Given the description of an element on the screen output the (x, y) to click on. 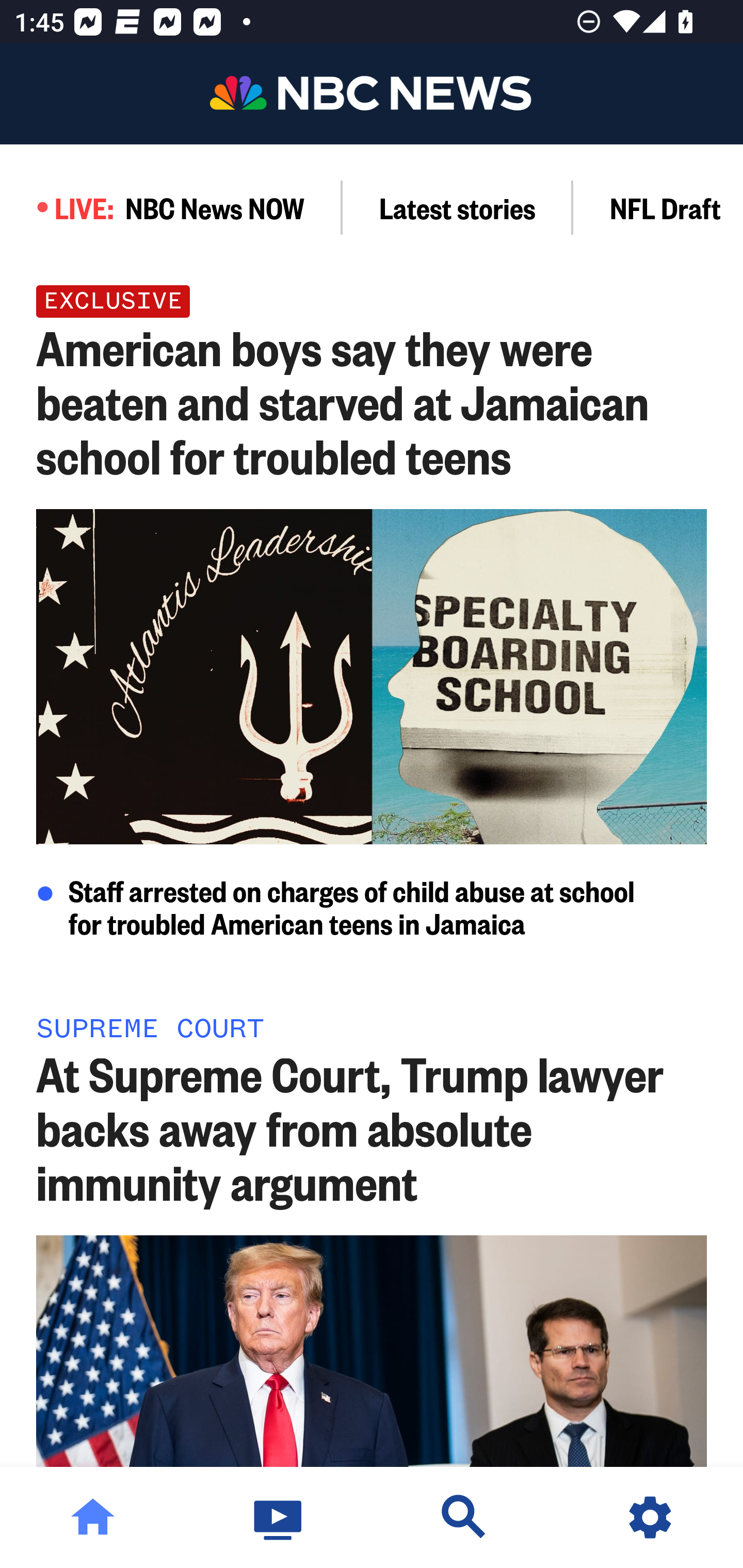
LIVE:  NBC News NOW (171, 207)
Latest stories Section,Latest stories (457, 207)
NFL Draft (658, 207)
Watch (278, 1517)
Discover (464, 1517)
Settings (650, 1517)
